Given the description of an element on the screen output the (x, y) to click on. 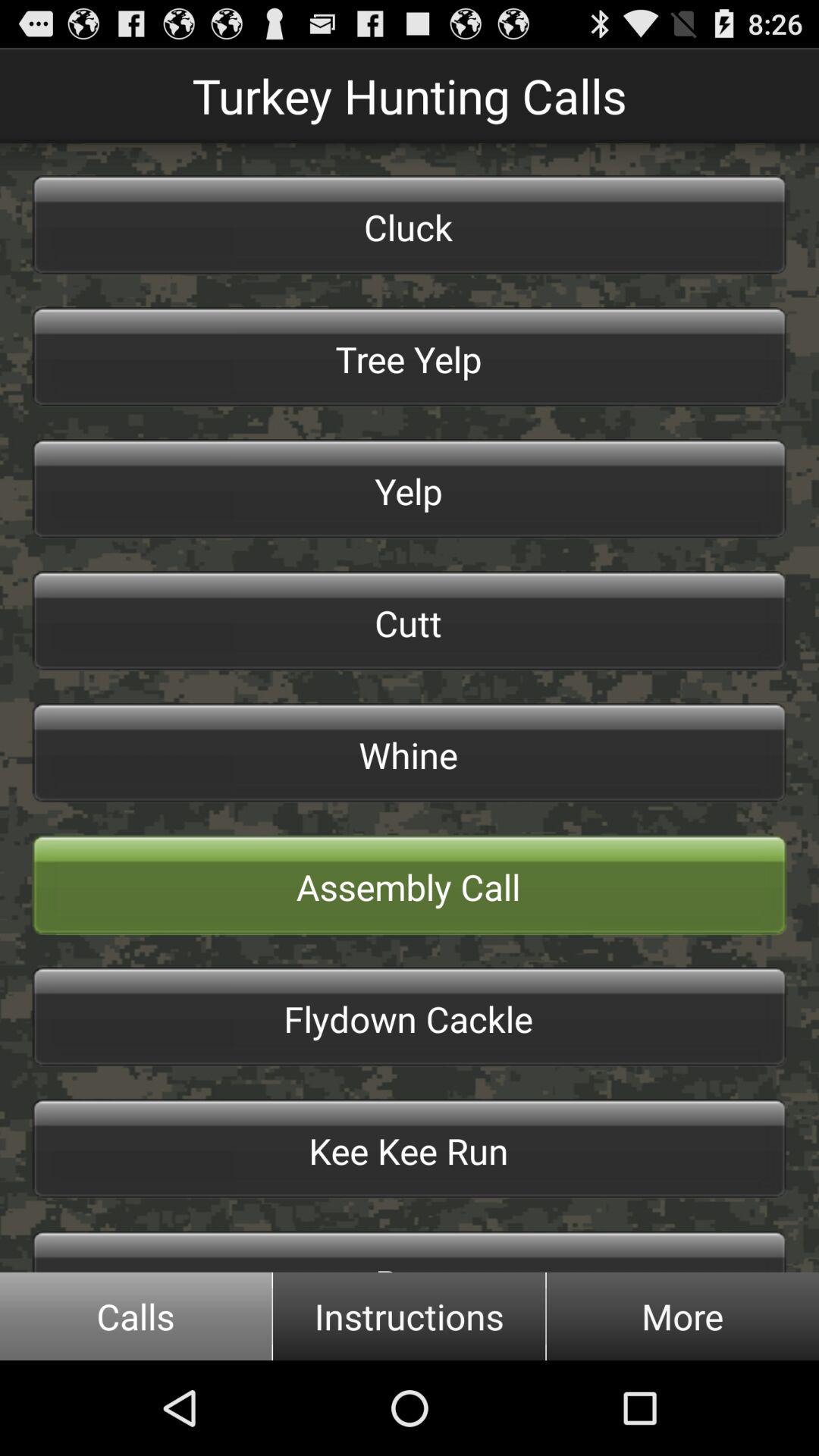
choose flydown cackle icon (409, 1016)
